Given the description of an element on the screen output the (x, y) to click on. 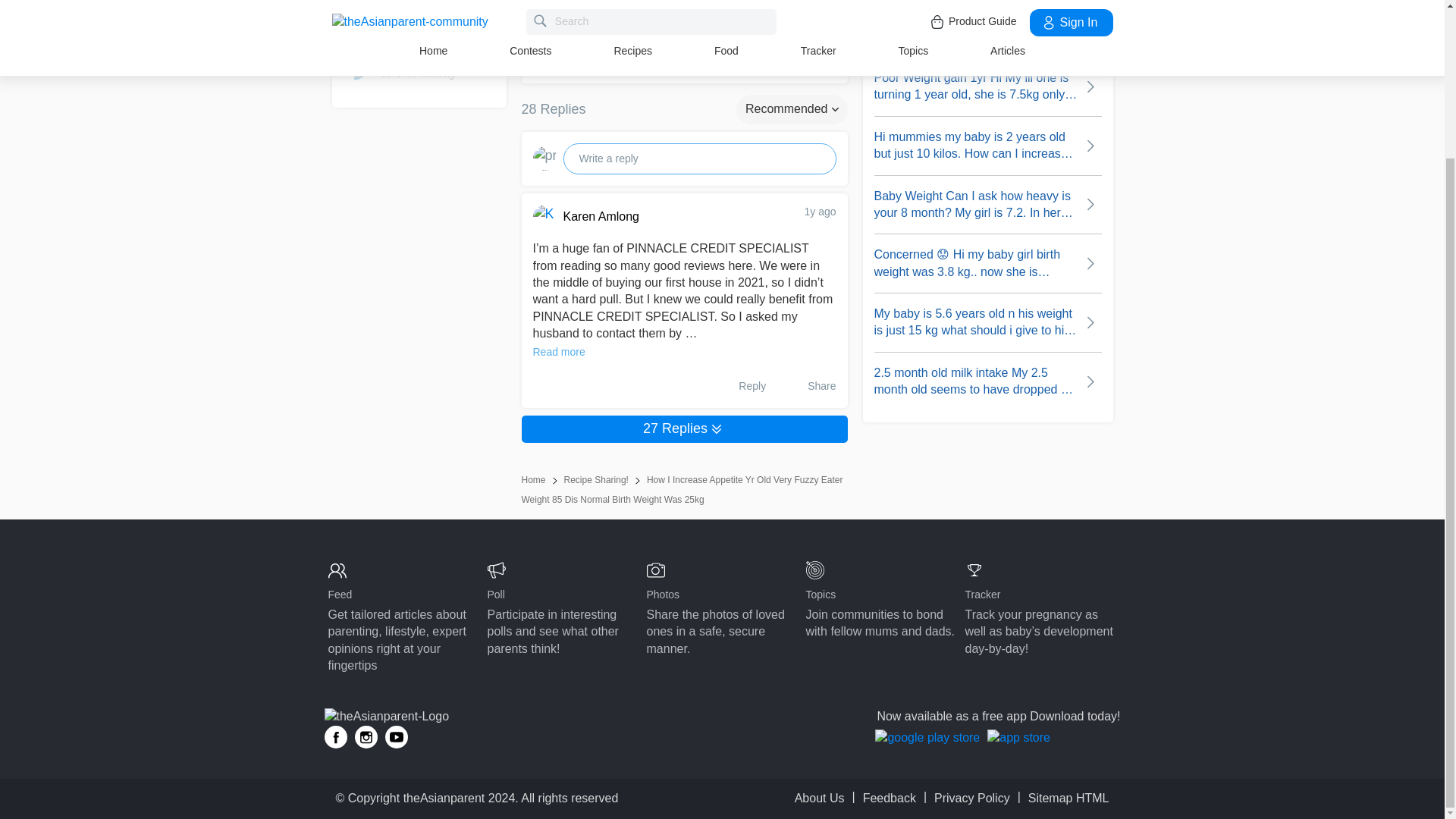
Karen Amlong (667, 216)
Recommended (791, 109)
27 Replies (684, 429)
1y ago (819, 211)
